Given the description of an element on the screen output the (x, y) to click on. 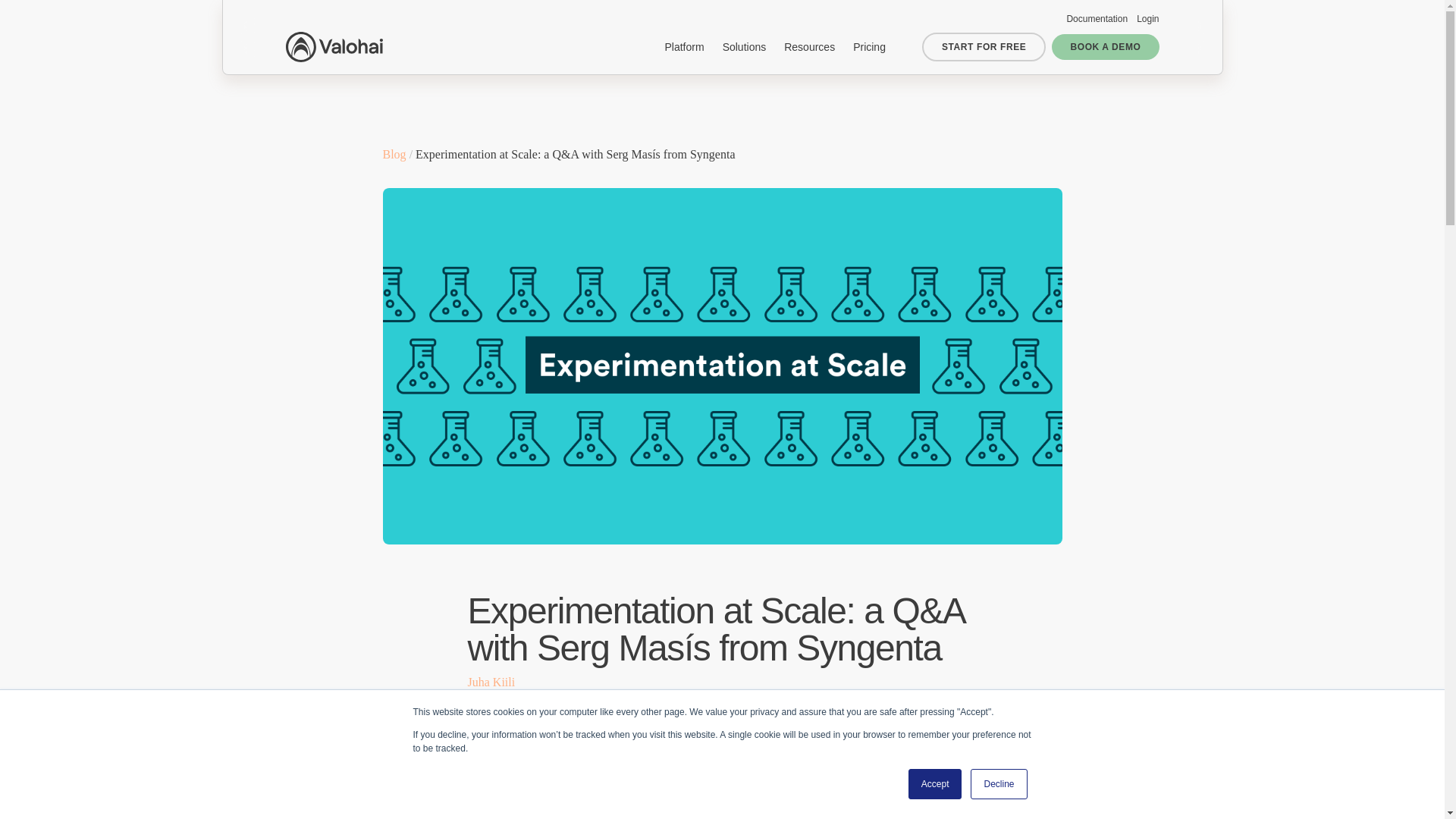
Pricing (869, 46)
Juha Kiili (491, 681)
Login (1147, 18)
Documentation (1095, 18)
Blog (393, 154)
Decline (998, 784)
BOOK A DEMO (1104, 46)
Accept (935, 784)
START FOR FREE (983, 46)
